Given the description of an element on the screen output the (x, y) to click on. 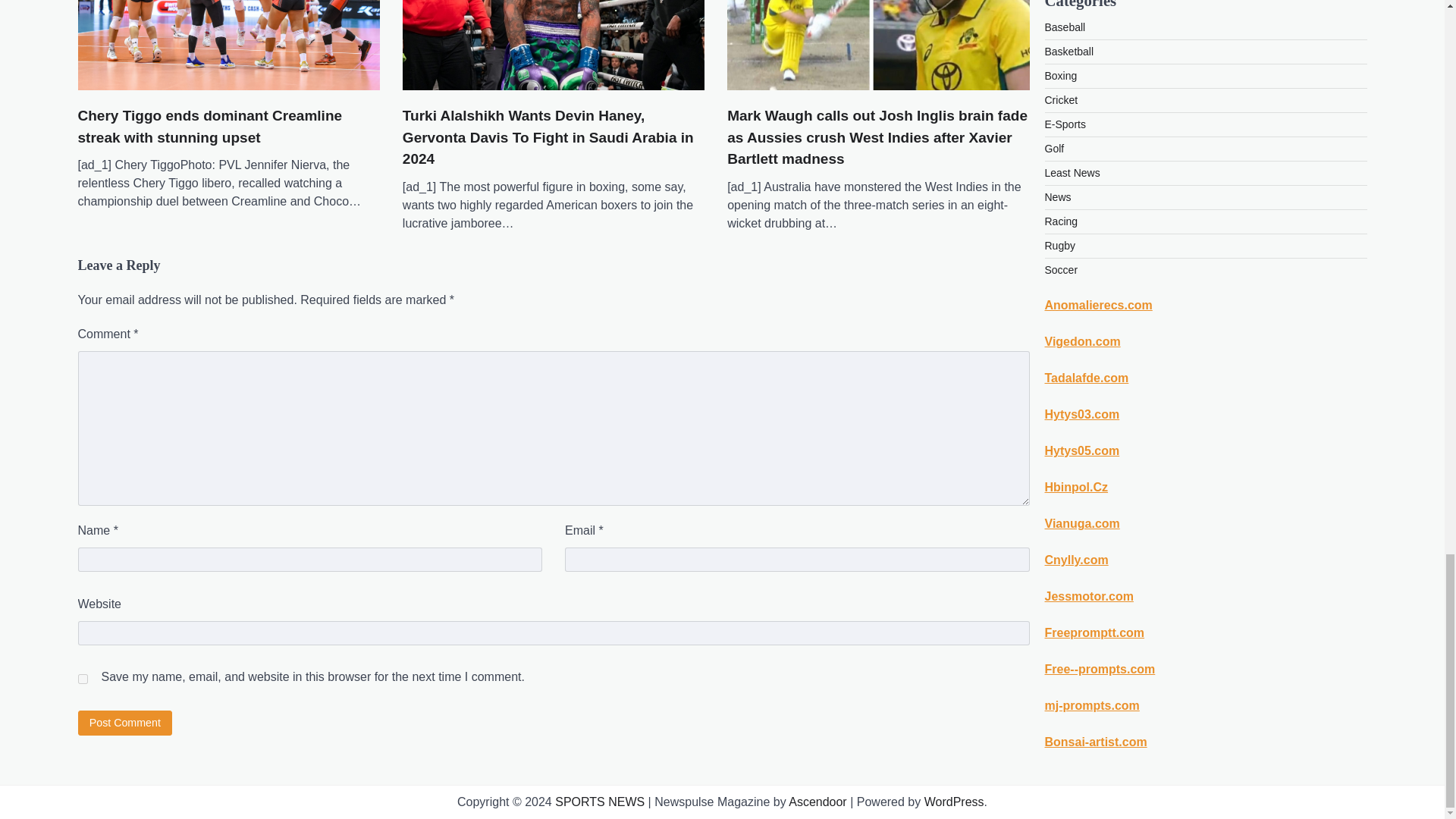
yes (82, 678)
Post Comment (124, 722)
